Given the description of an element on the screen output the (x, y) to click on. 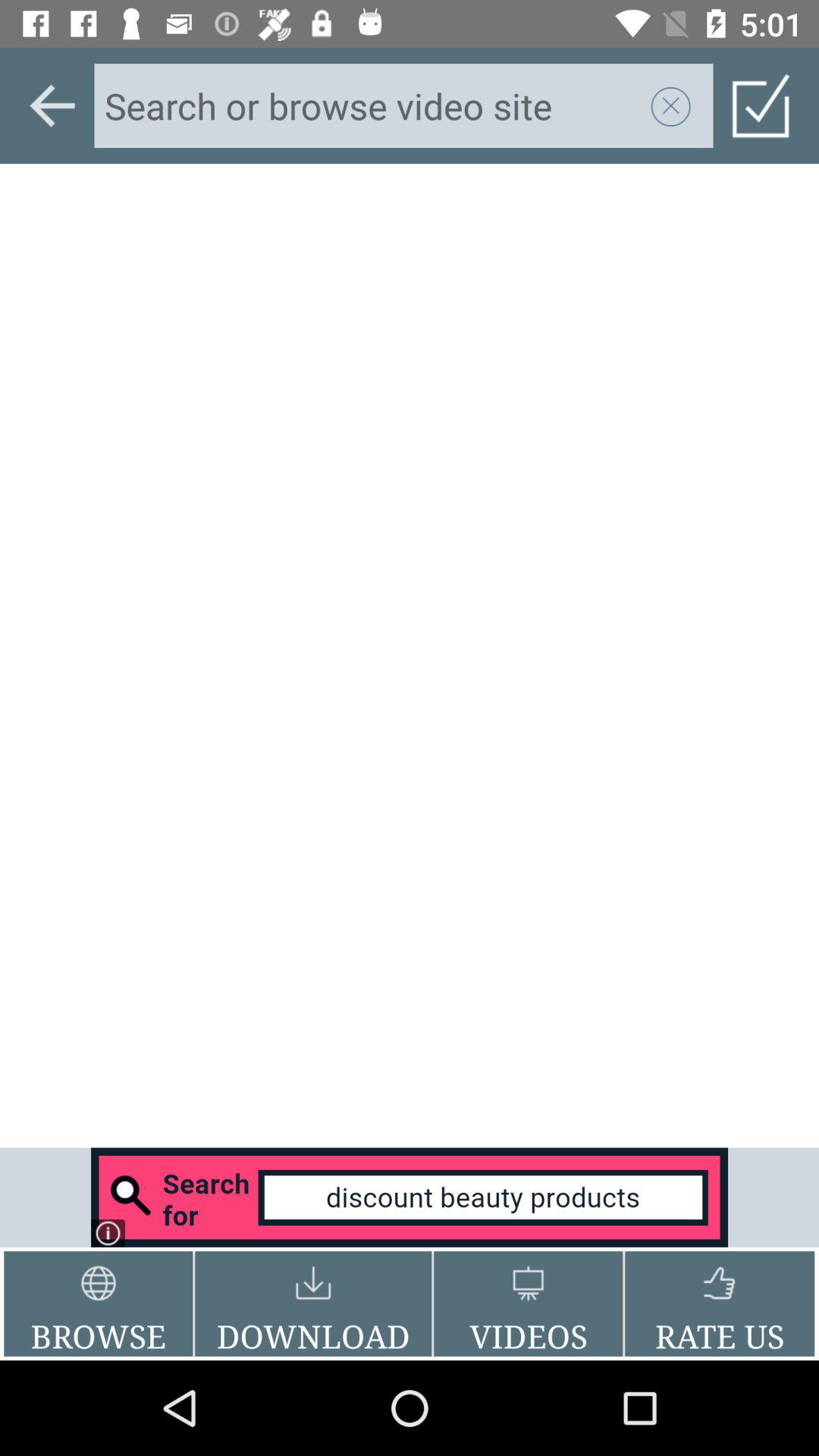
launch the icon to the right of the browse item (313, 1303)
